Given the description of an element on the screen output the (x, y) to click on. 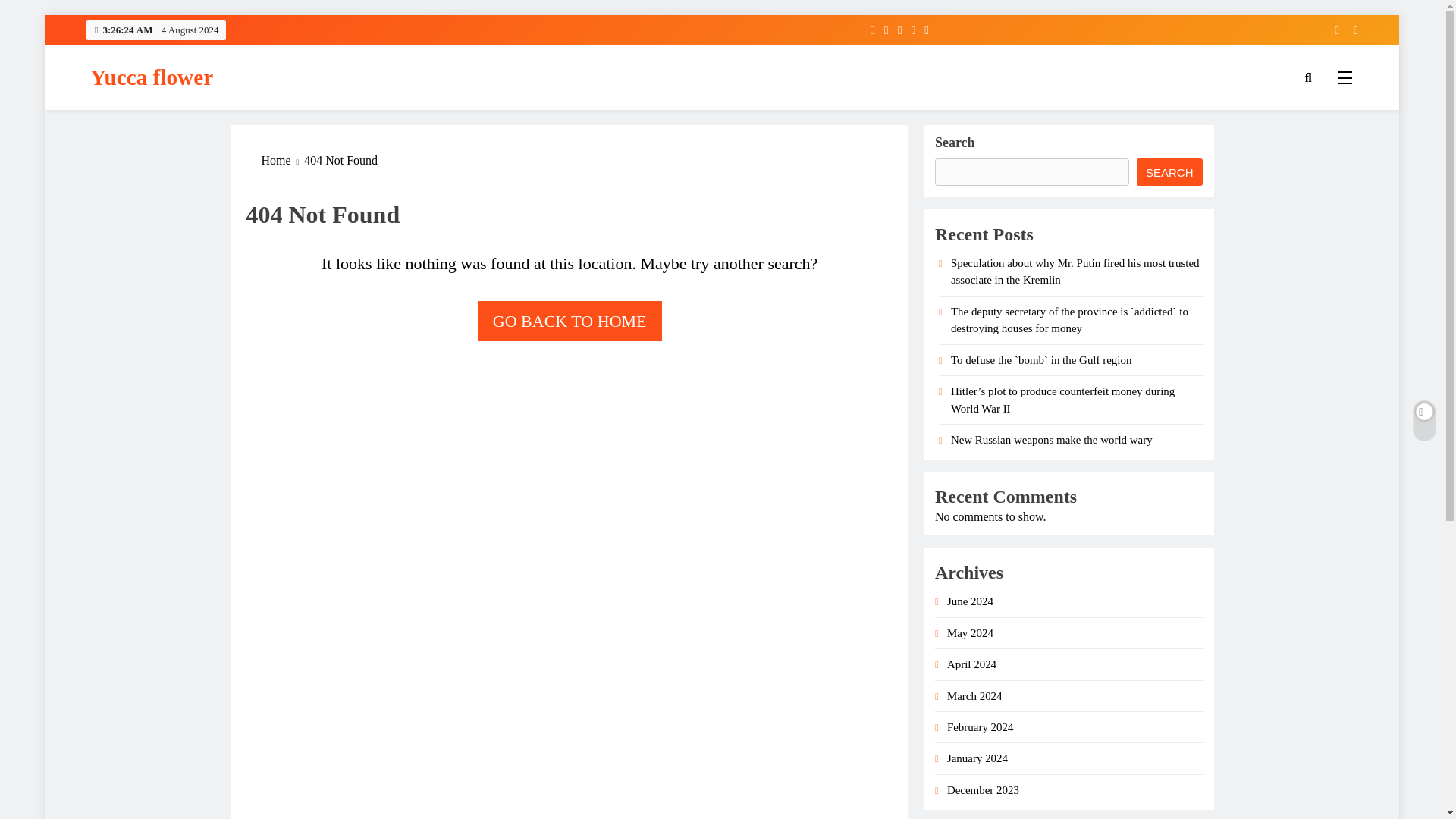
January 2024 (977, 758)
February 2024 (980, 727)
GO BACK TO HOME (569, 321)
March 2024 (975, 695)
SEARCH (1169, 171)
Home (282, 160)
December 2023 (983, 789)
Yucca flower (151, 77)
June 2024 (969, 601)
April 2024 (971, 664)
New Russian weapons make the world wary (1051, 439)
May 2024 (969, 633)
